Given the description of an element on the screen output the (x, y) to click on. 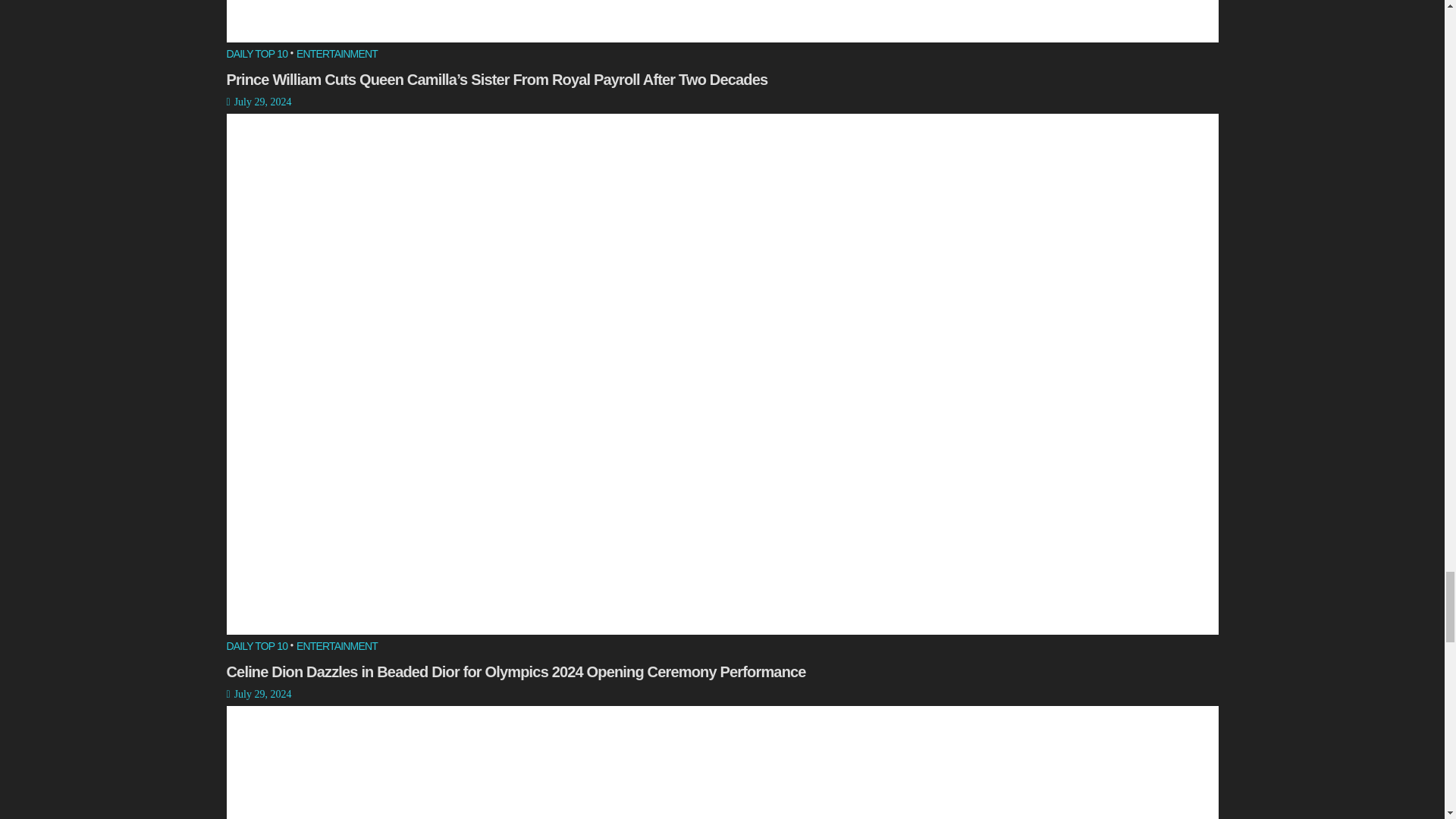
DAILY TOP 10 (255, 646)
ENTERTAINMENT (337, 54)
DAILY TOP 10 (255, 54)
ENTERTAINMENT (337, 646)
